Given the description of an element on the screen output the (x, y) to click on. 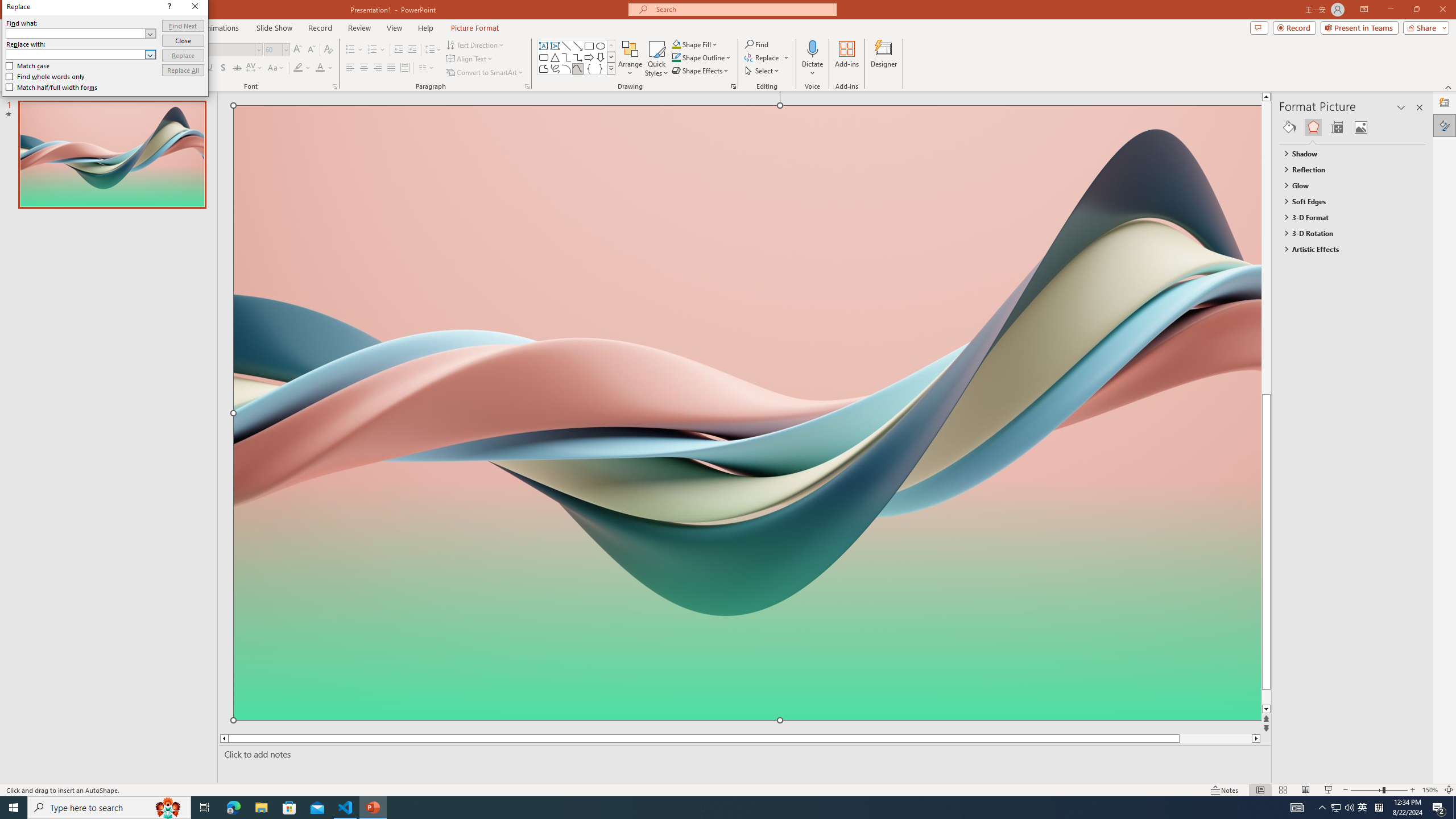
3-D Rotation (1347, 232)
Task View (204, 807)
Align Left (349, 67)
Shape Fill Orange, Accent 2 (675, 44)
Arrow: Down (600, 57)
Select (762, 69)
Arc (566, 68)
Search highlights icon opens search home window (167, 807)
Line Spacing (433, 49)
